Given the description of an element on the screen output the (x, y) to click on. 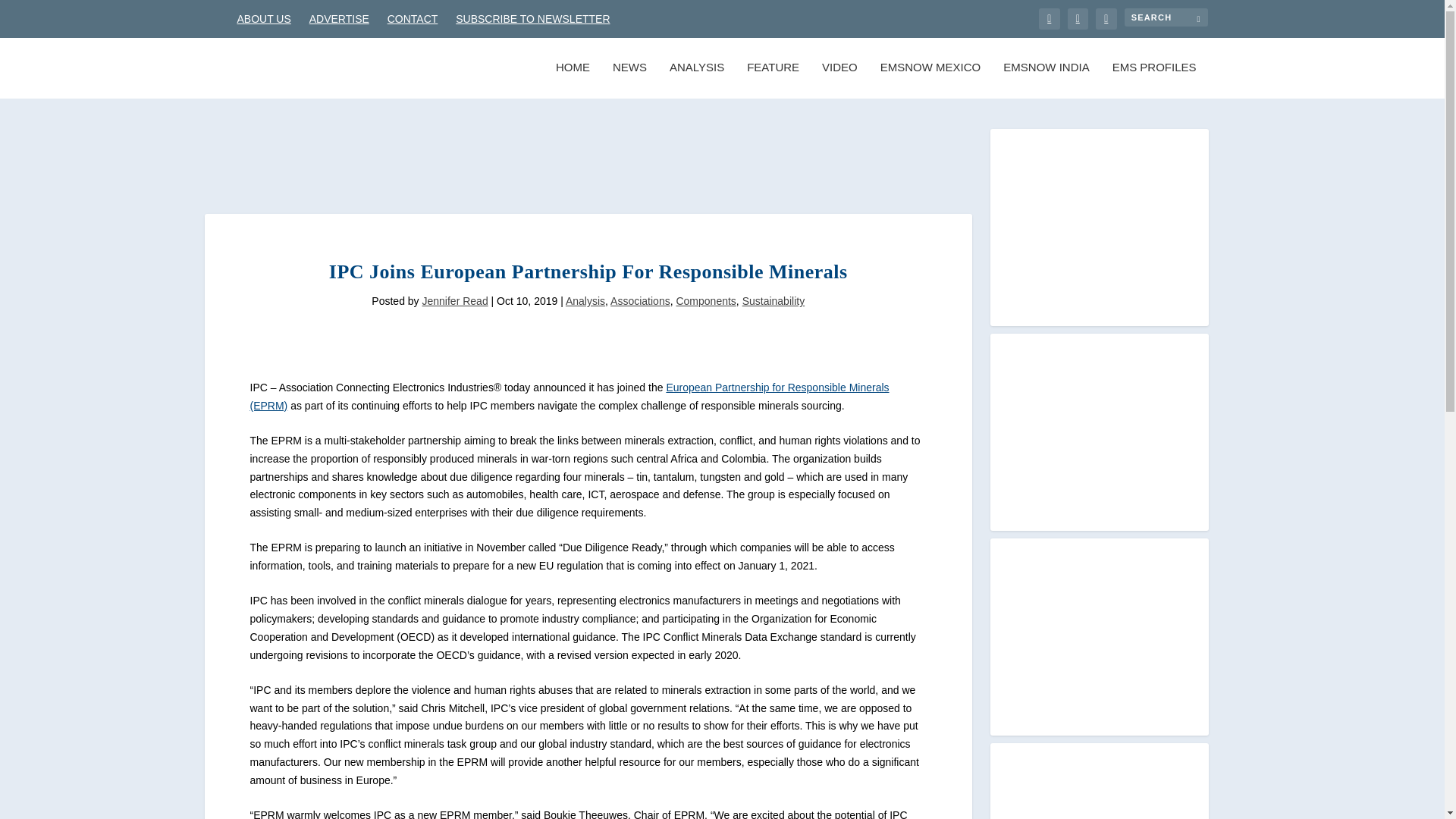
Jennifer Read (454, 300)
SUBSCRIBE TO NEWSLETTER (532, 18)
Posts by Jennifer Read (454, 300)
ABOUT US (262, 18)
EMS PROFILES (1154, 79)
FEATURE (772, 79)
VIDEO (839, 79)
CONTACT (412, 18)
HOME (572, 79)
ANALYSIS (696, 79)
EMSNOW INDIA (1046, 79)
Analysis (585, 300)
Associations (639, 300)
ADVERTISE (338, 18)
EMSNOW MEXICO (930, 79)
